Given the description of an element on the screen output the (x, y) to click on. 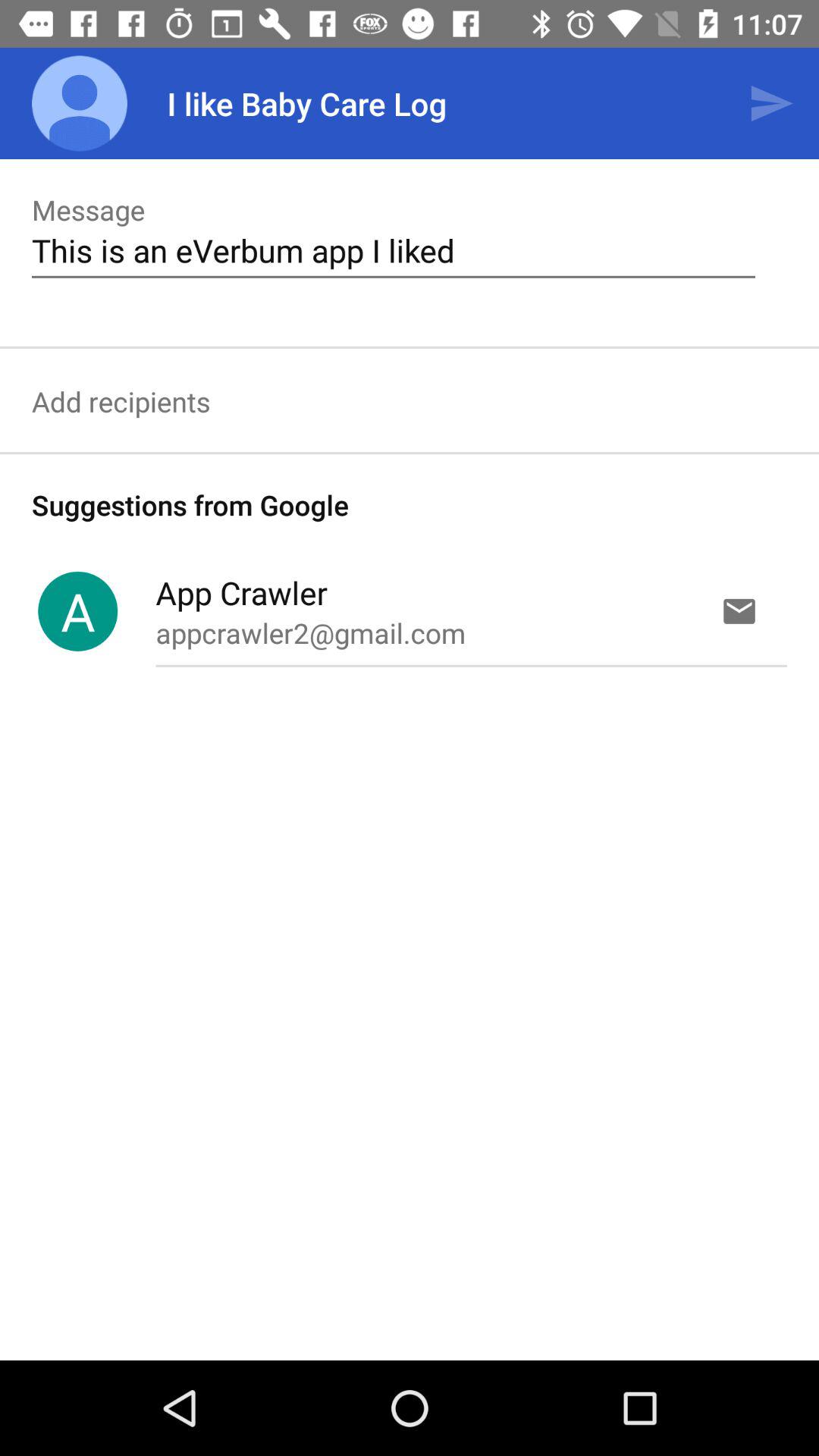
select the button which is at top right corner (771, 103)
